Given the description of an element on the screen output the (x, y) to click on. 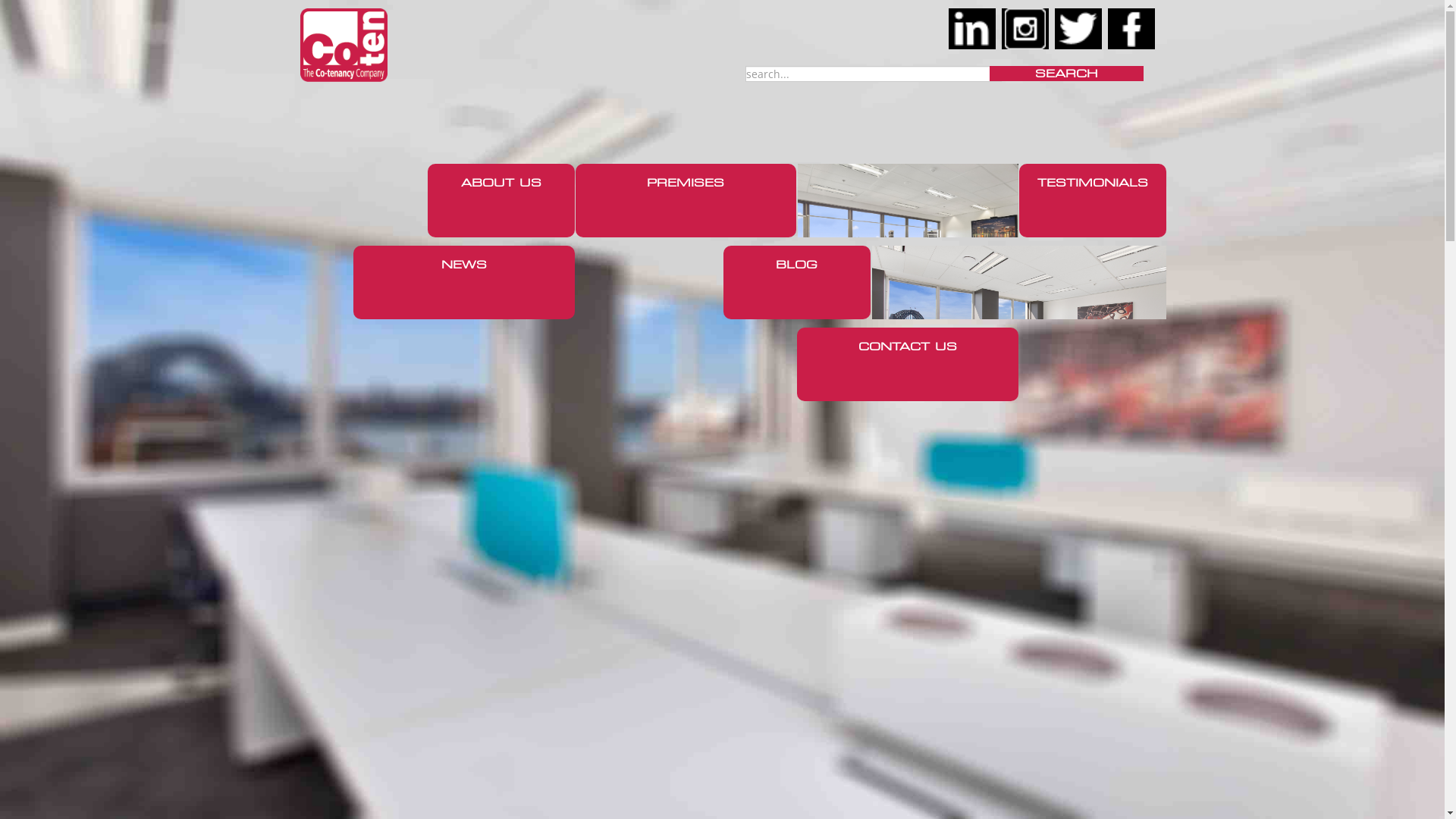
TESTIMONIALS Element type: text (1092, 200)
ABOUT US Element type: text (500, 200)
CONTACT US Element type: text (907, 364)
NEWS Element type: text (463, 282)
SEARCH Element type: text (1065, 73)
PREMISES Element type: text (685, 200)
BLOG Element type: text (796, 282)
